Given the description of an element on the screen output the (x, y) to click on. 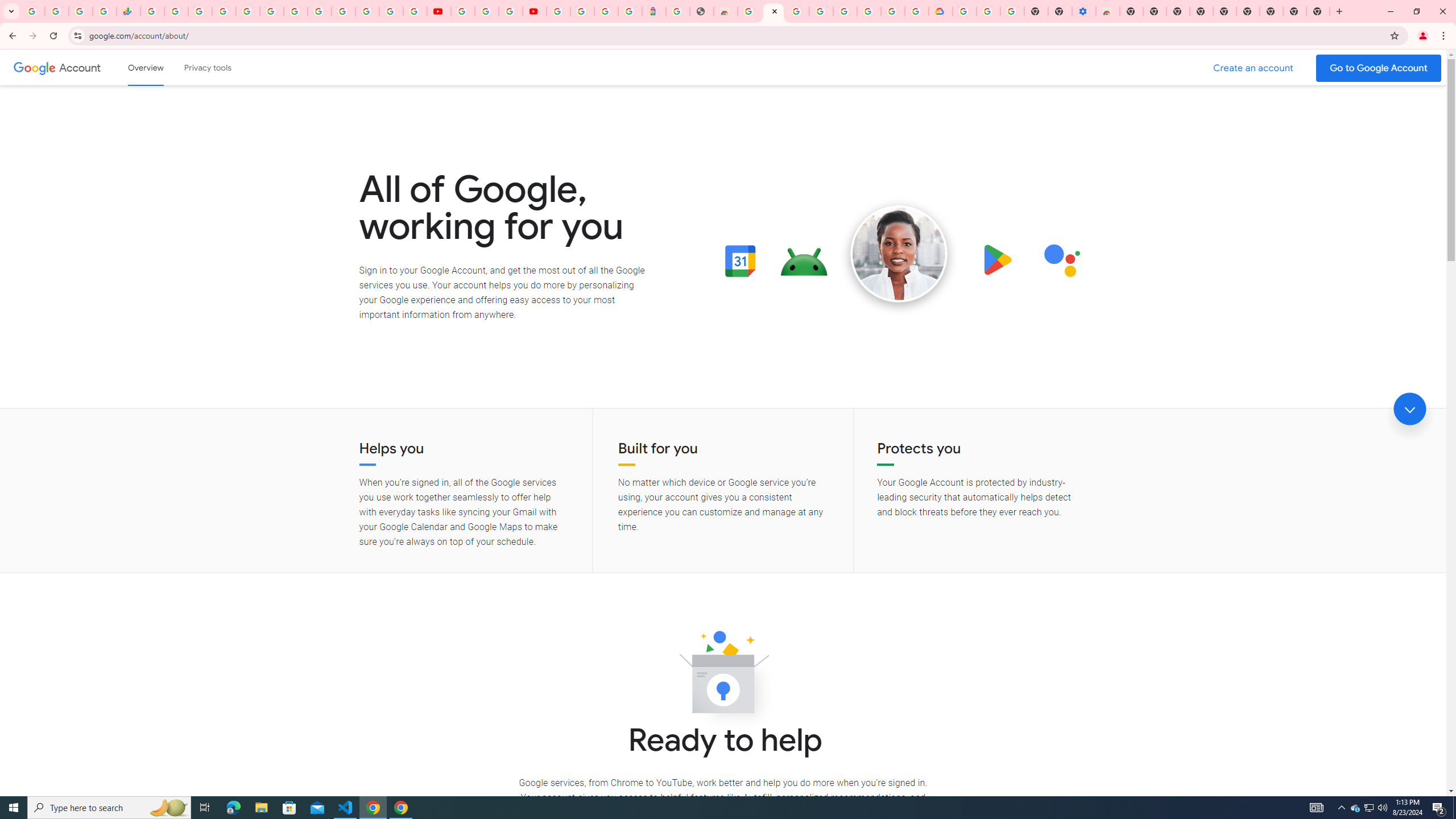
Chrome Web Store - Accessibility extensions (1107, 11)
Sign in - Google Accounts (581, 11)
New Tab (1318, 11)
Settings - Accessibility (1083, 11)
Sign in - Google Accounts (558, 11)
Jump link (1409, 408)
Google Account Help (486, 11)
